Given the description of an element on the screen output the (x, y) to click on. 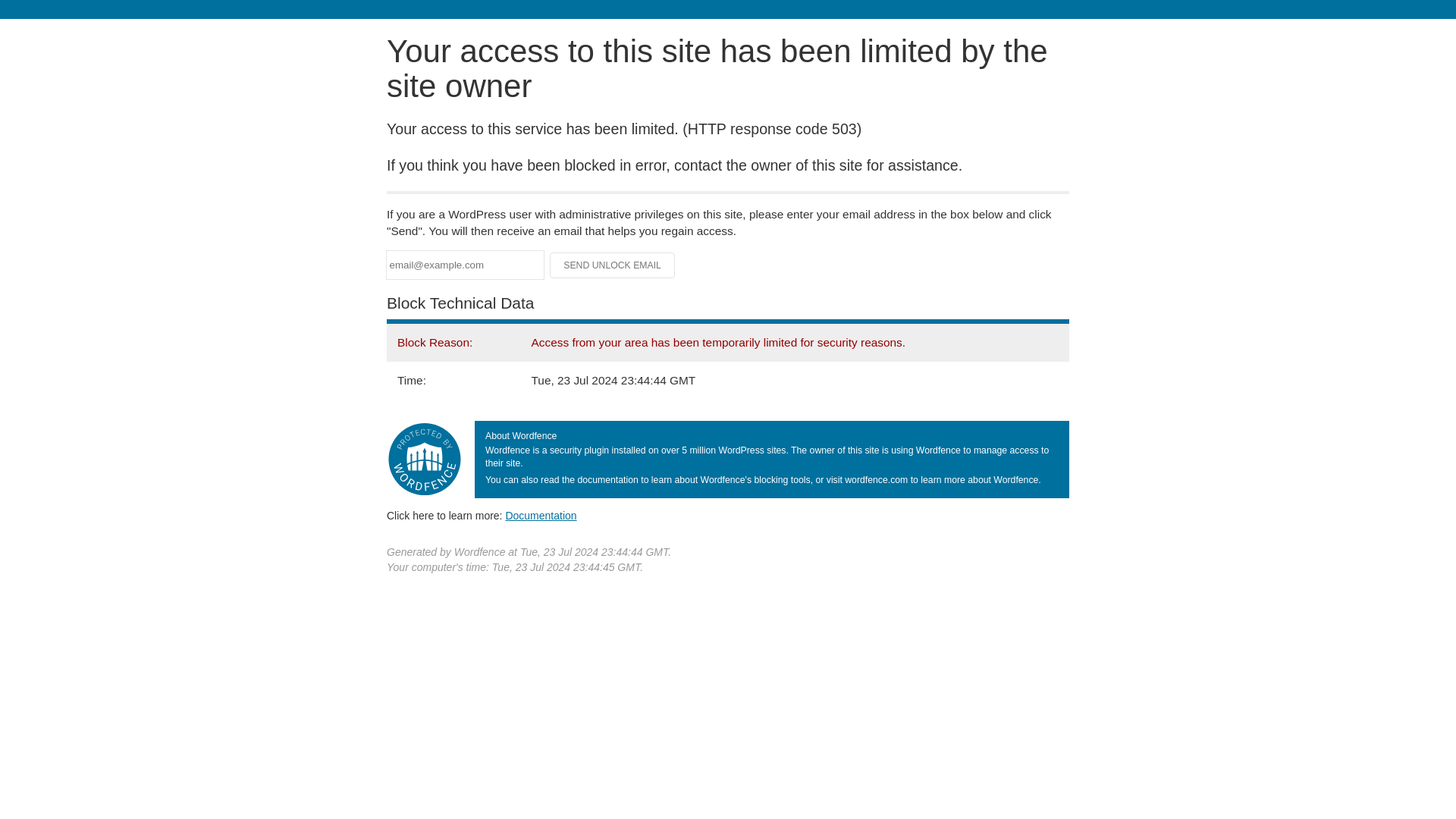
Documentation (540, 515)
Send Unlock Email (612, 265)
Send Unlock Email (612, 265)
